Given the description of an element on the screen output the (x, y) to click on. 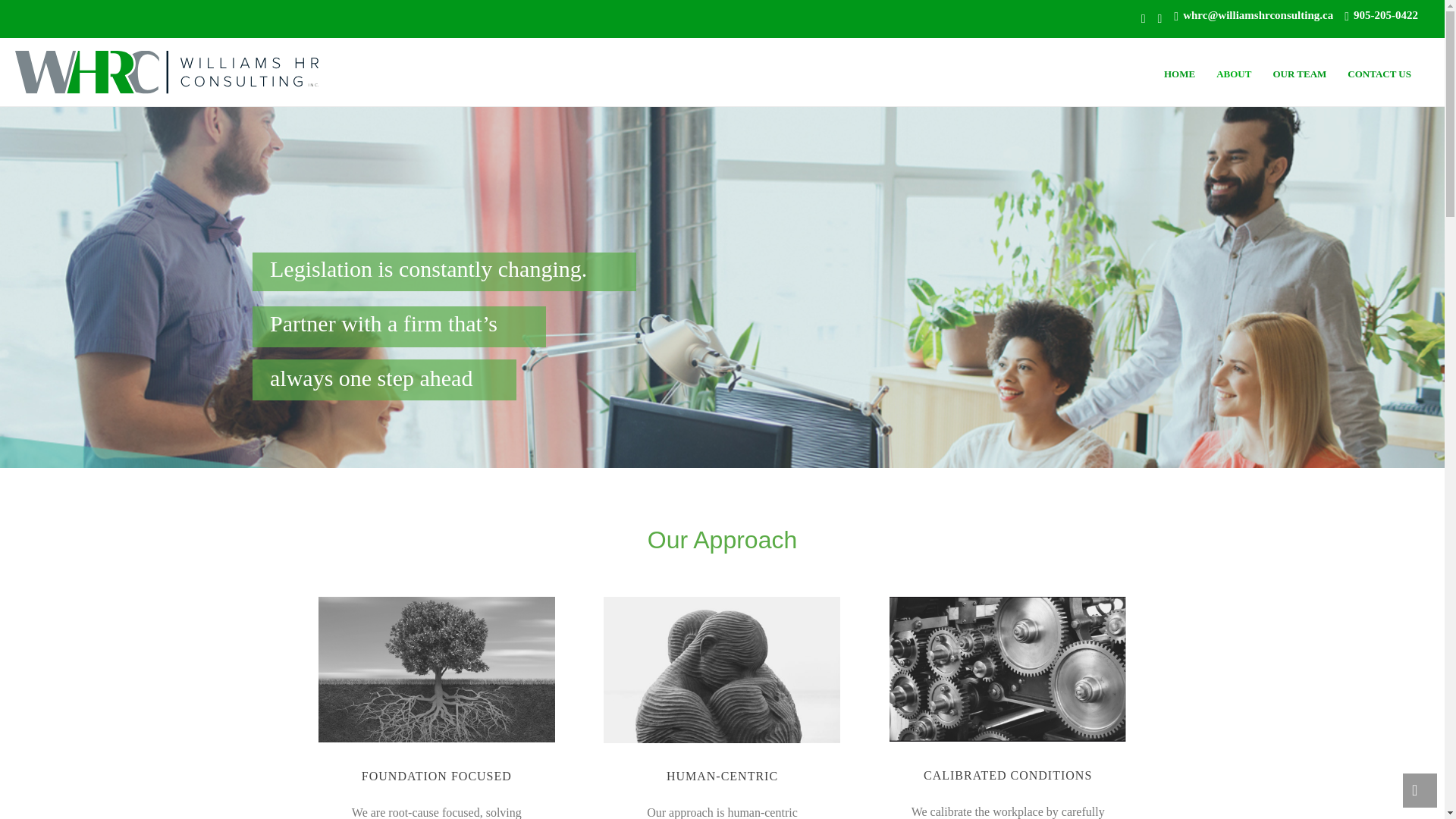
CONTACT US (1379, 71)
OUR TEAM (1299, 71)
